Given the description of an element on the screen output the (x, y) to click on. 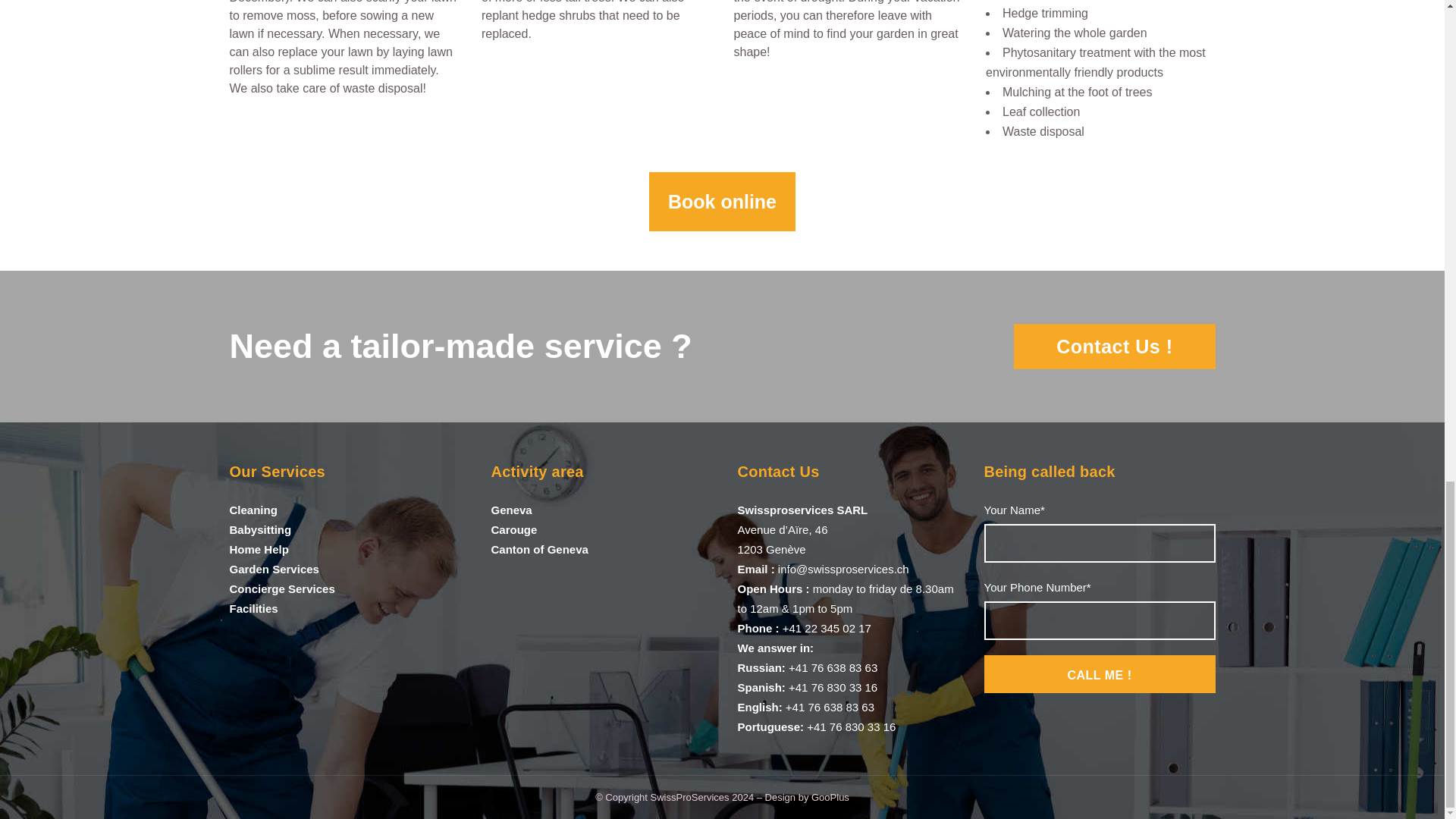
Concierge Services (281, 588)
Facilities (253, 608)
Book online (721, 201)
Home Help (258, 549)
Cleaning (252, 509)
CALL ME ! (1099, 673)
Contact Us ! (1113, 345)
Babysitting (259, 529)
Garden Services (273, 568)
